Given the description of an element on the screen output the (x, y) to click on. 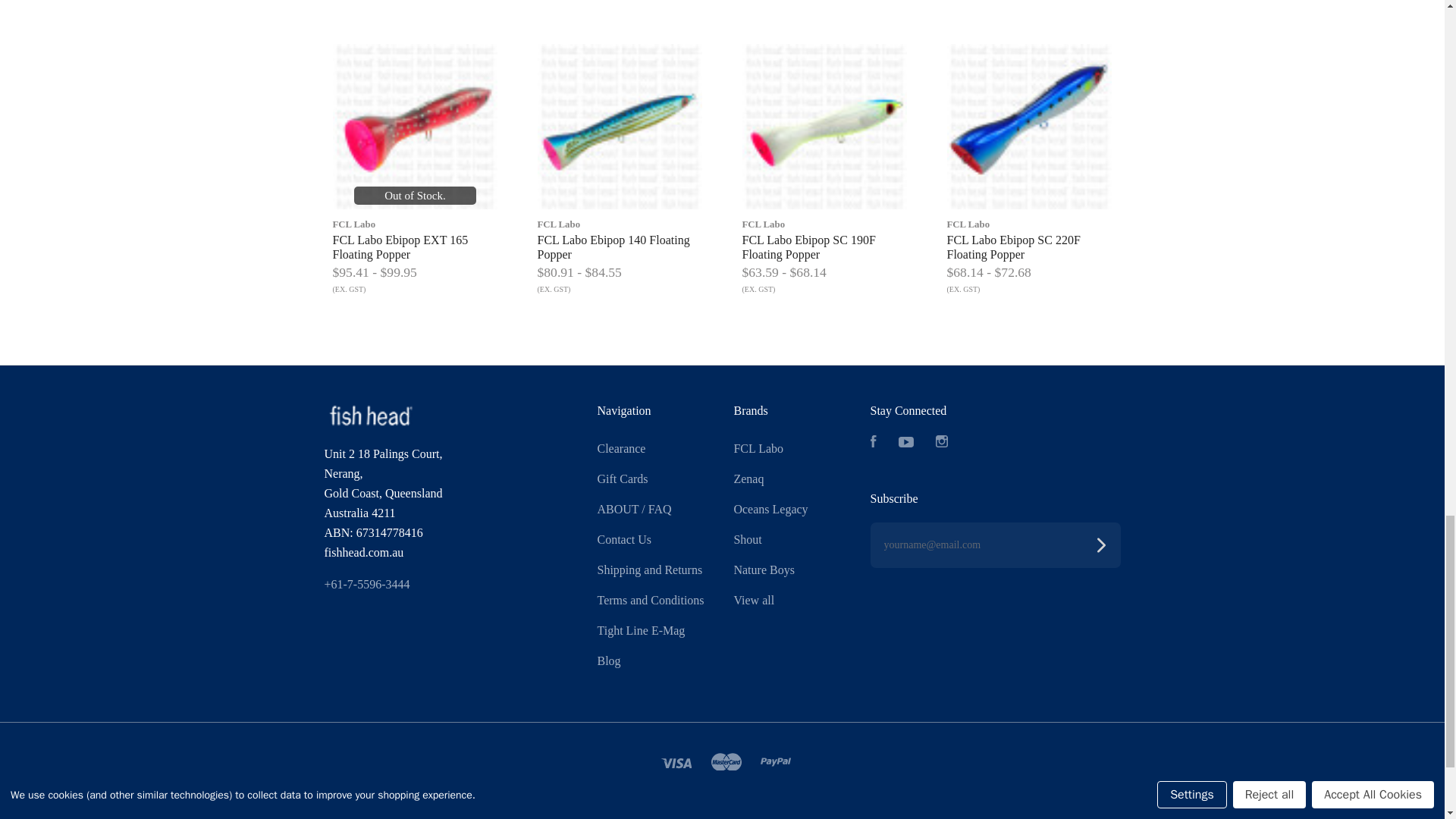
instagram (941, 440)
. (369, 415)
YouTube (905, 442)
FCL Labo Ebipop SC 220F Floating Popper (1029, 126)
FCL Labo Ebipop EXT 165 Floating Popper (414, 126)
FCL Labo Ebipop SC 190F Floating Popper (824, 126)
FCL Labo Ebipop 140 Floating Popper (619, 126)
Instagram (941, 442)
youtube (905, 441)
